Given the description of an element on the screen output the (x, y) to click on. 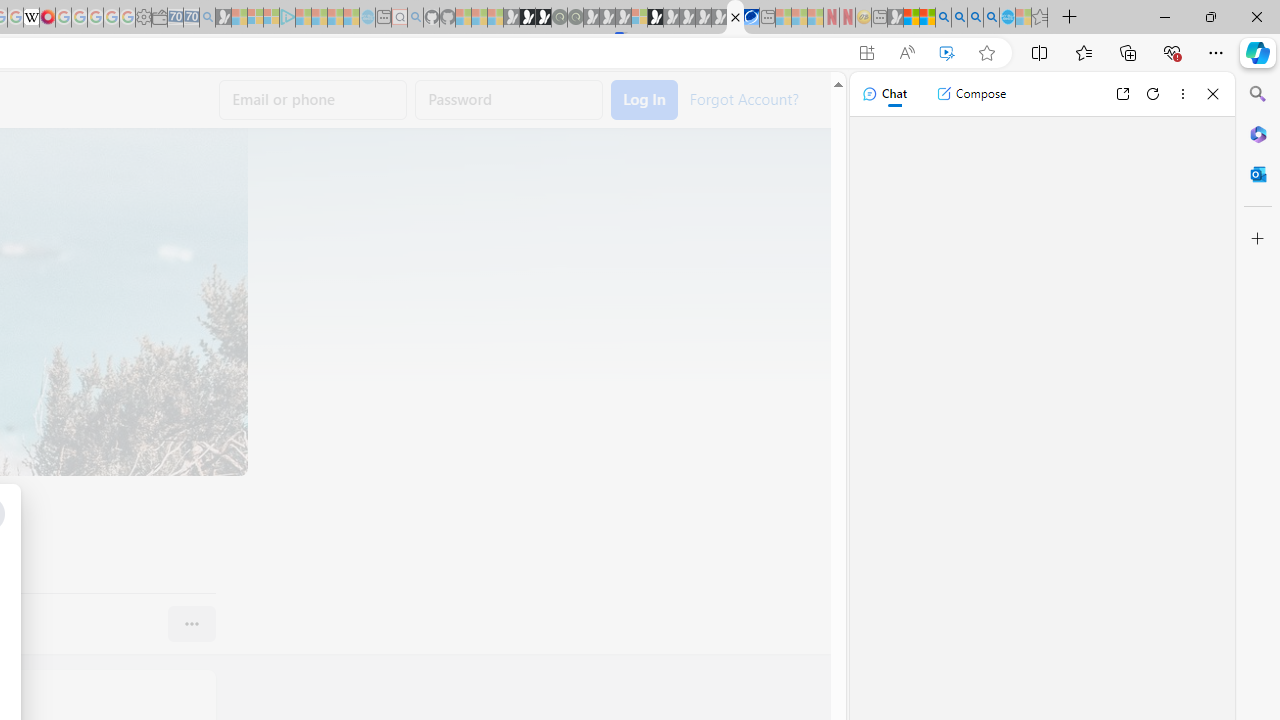
Target page - Wikipedia (31, 17)
Forgot Account? (743, 97)
AirNow.gov (751, 17)
